Given the description of an element on the screen output the (x, y) to click on. 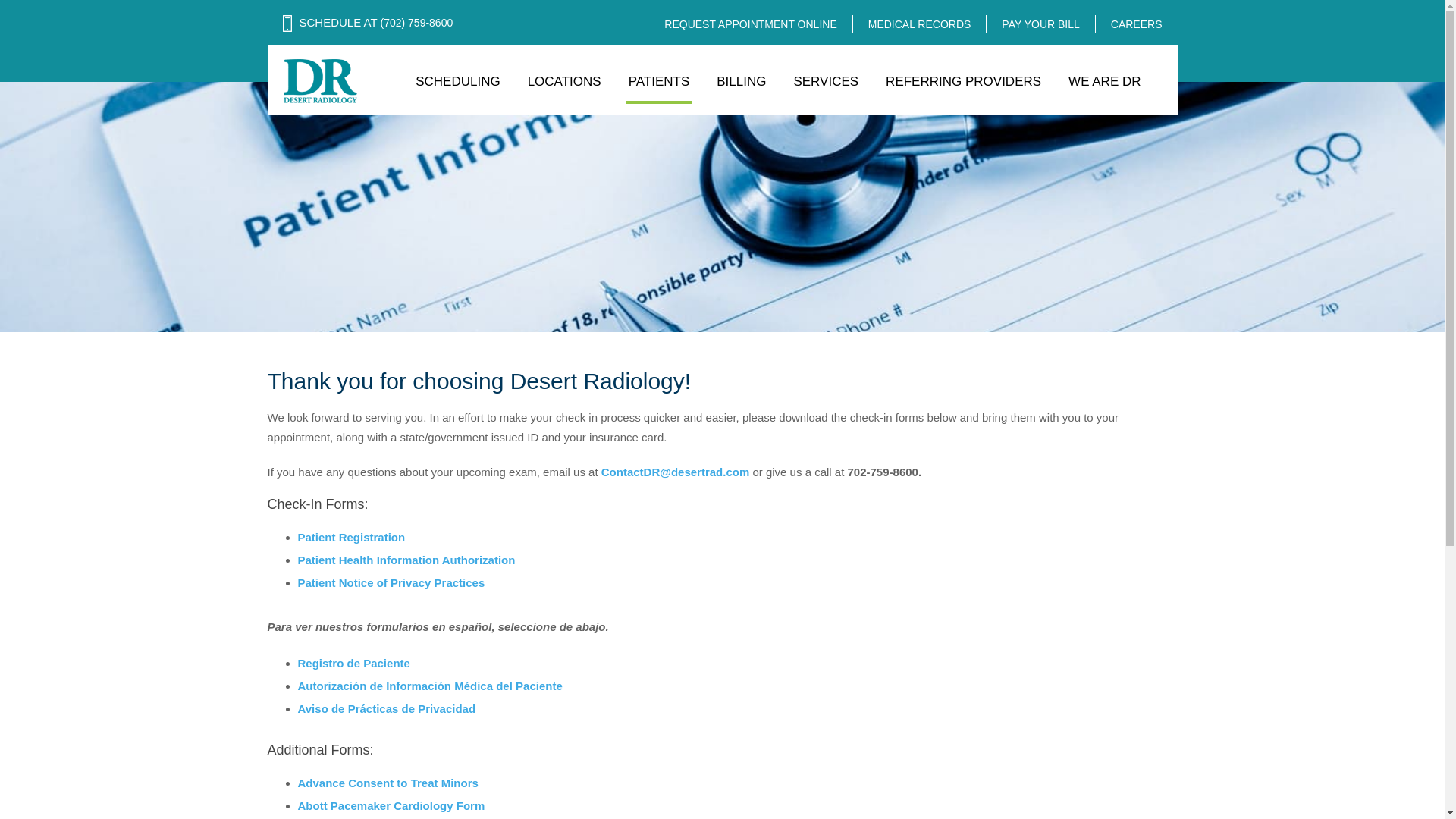
Desert Radiology Privacy Practices (390, 582)
Desert Radiology PHI Authorization (406, 559)
DR Advance Consent to Treat Minors (387, 782)
Patient Registration (350, 536)
PAY YOUR BILL (1040, 24)
MEDICAL RECORDS (920, 24)
BILLING (740, 86)
CAREERS (1136, 24)
REQUEST APPOINTMENT ONLINE (750, 24)
